Given the description of an element on the screen output the (x, y) to click on. 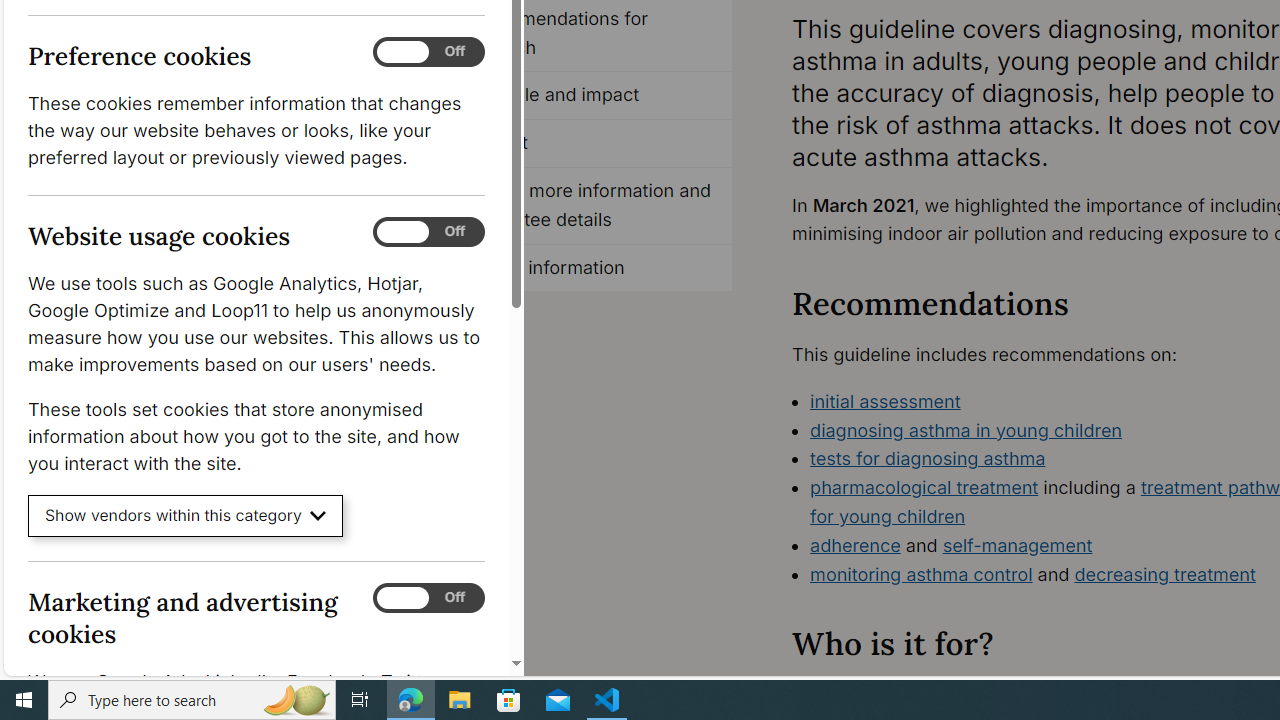
for young children (888, 515)
Rationale and impact (587, 96)
monitoring asthma control (921, 573)
decreasing treatment (1164, 573)
adherence (855, 544)
Finding more information and committee details (587, 205)
diagnosing asthma in young children (966, 429)
pharmacological treatment (924, 487)
Context (588, 143)
Rationale and impact (588, 96)
Context (587, 143)
Preference cookies (429, 52)
Update information (587, 268)
Update information (588, 268)
Show vendors within this category (185, 516)
